Given the description of an element on the screen output the (x, y) to click on. 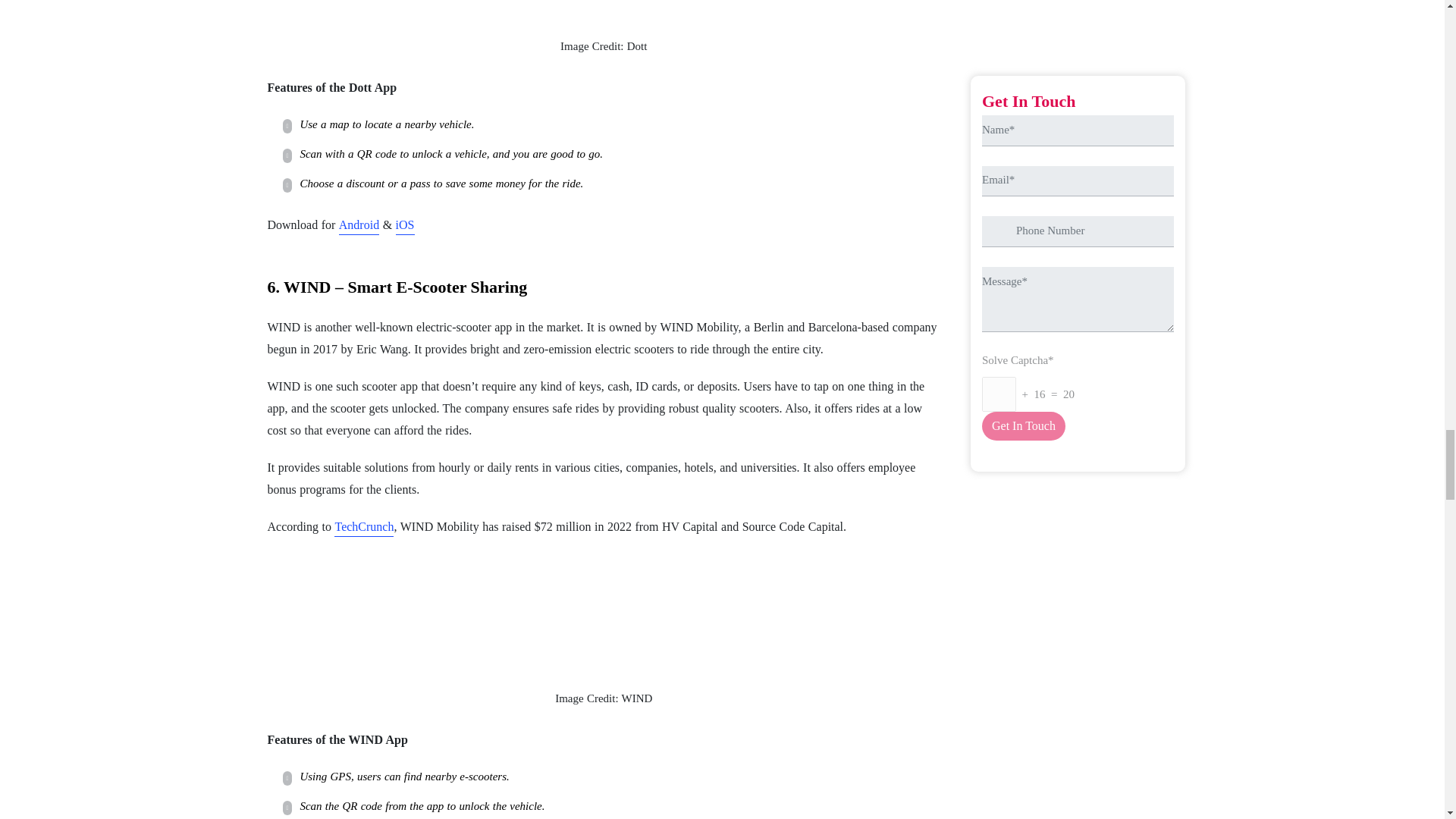
Dott (603, 8)
WIND  (603, 612)
